Given the description of an element on the screen output the (x, y) to click on. 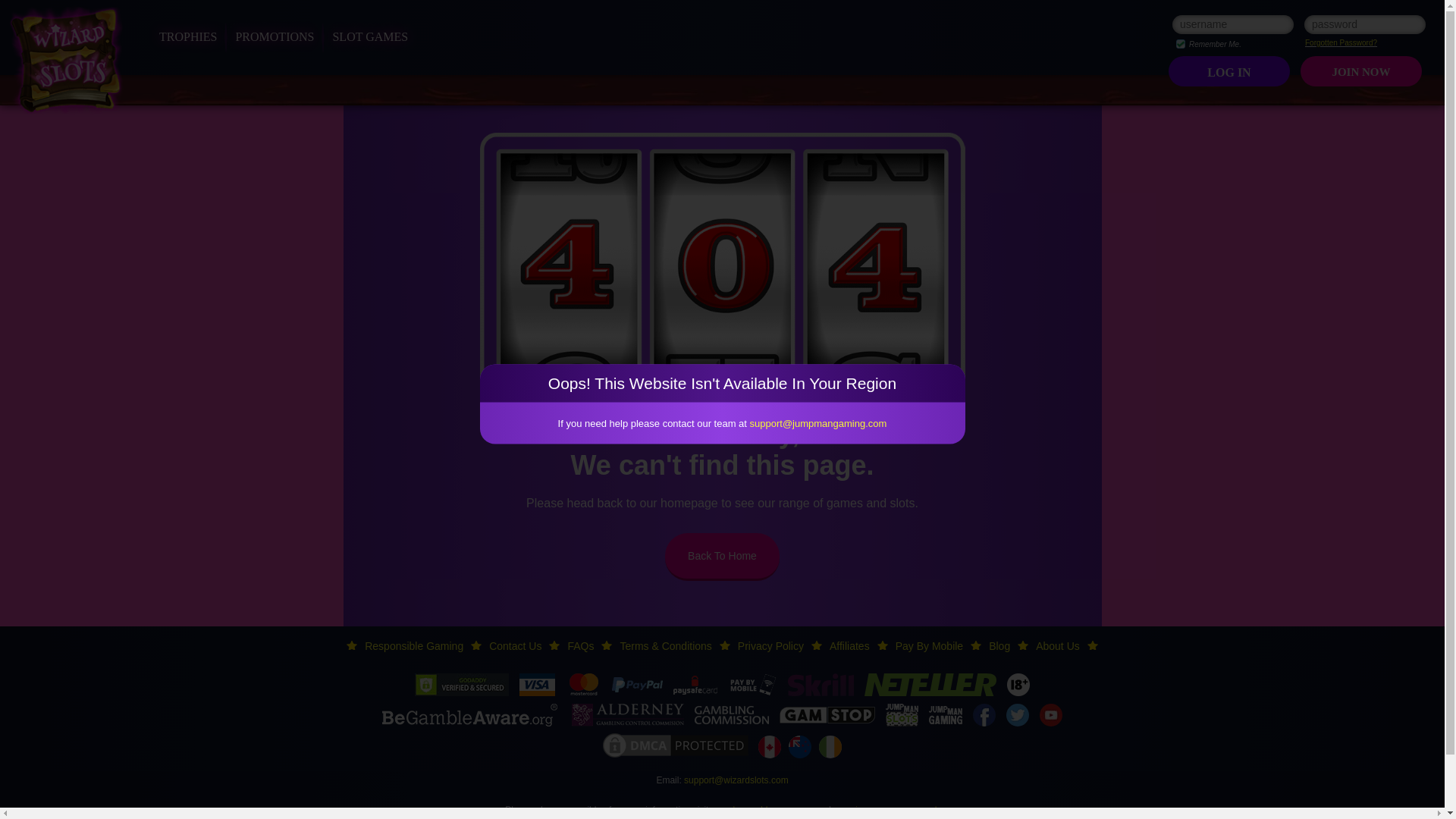
PROMOTIONS (274, 36)
Contact Us (515, 645)
1 (1180, 43)
Responsible Gaming (414, 645)
www.jumpmancares.co.uk (885, 809)
SLOT GAMES (369, 36)
www.begambleaware.org (762, 809)
DMCA.com Protection Status (674, 746)
FAQs (580, 645)
About Us (1057, 645)
